Given the description of an element on the screen output the (x, y) to click on. 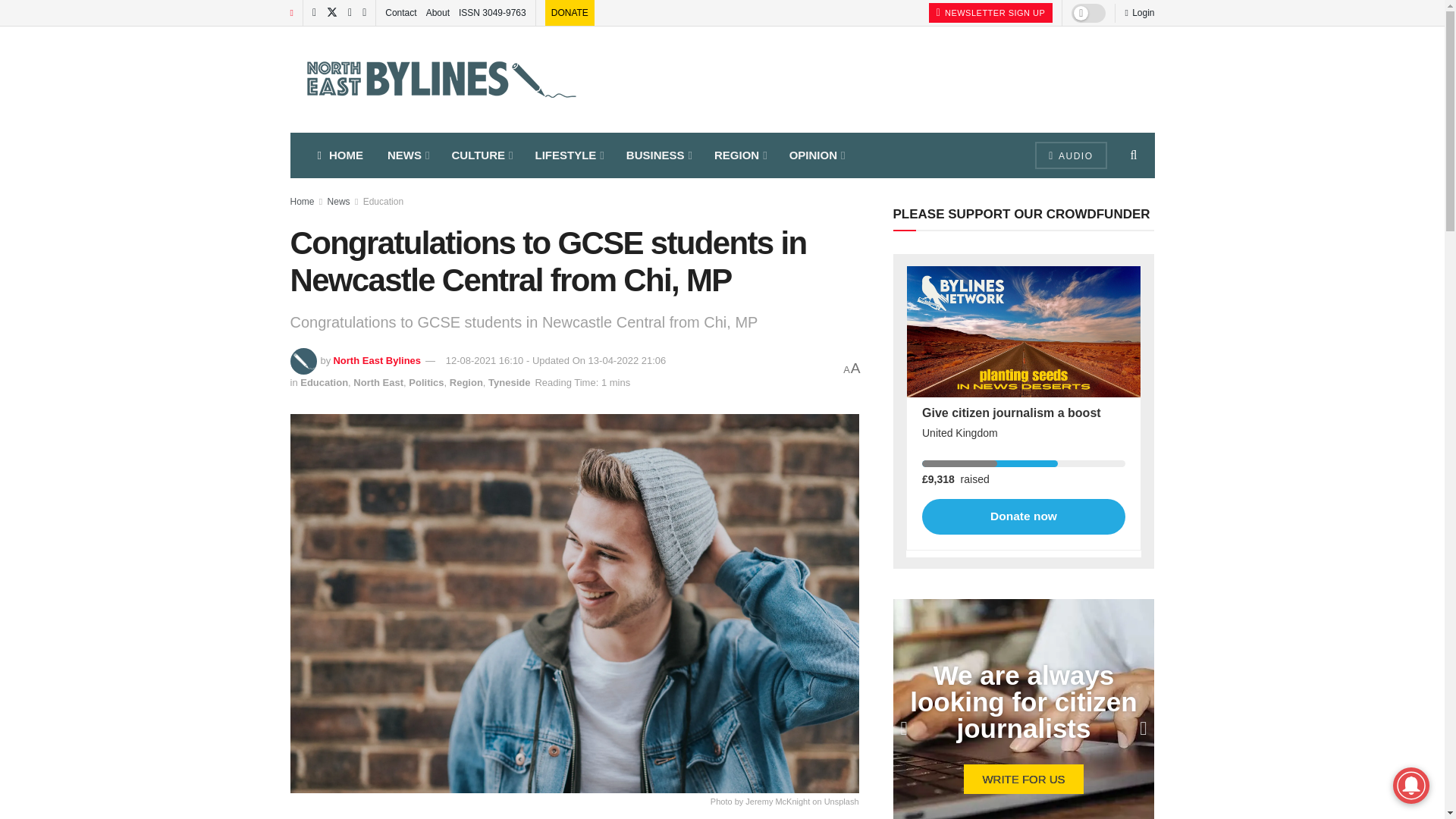
LIFESTYLE (568, 155)
NEWSLETTER SIGN UP (990, 12)
North East Bylines (376, 360)
NEWS (407, 155)
Education (323, 382)
DONATE (569, 12)
BUSINESS (657, 155)
ISSN 3049-9763 (491, 12)
North East (378, 382)
REGION (739, 155)
News (338, 201)
12-08-2021 16:10 - Updated On 13-04-2022 21:06 (555, 360)
Login (1139, 12)
Contact (400, 12)
Education (382, 201)
